Given the description of an element on the screen output the (x, y) to click on. 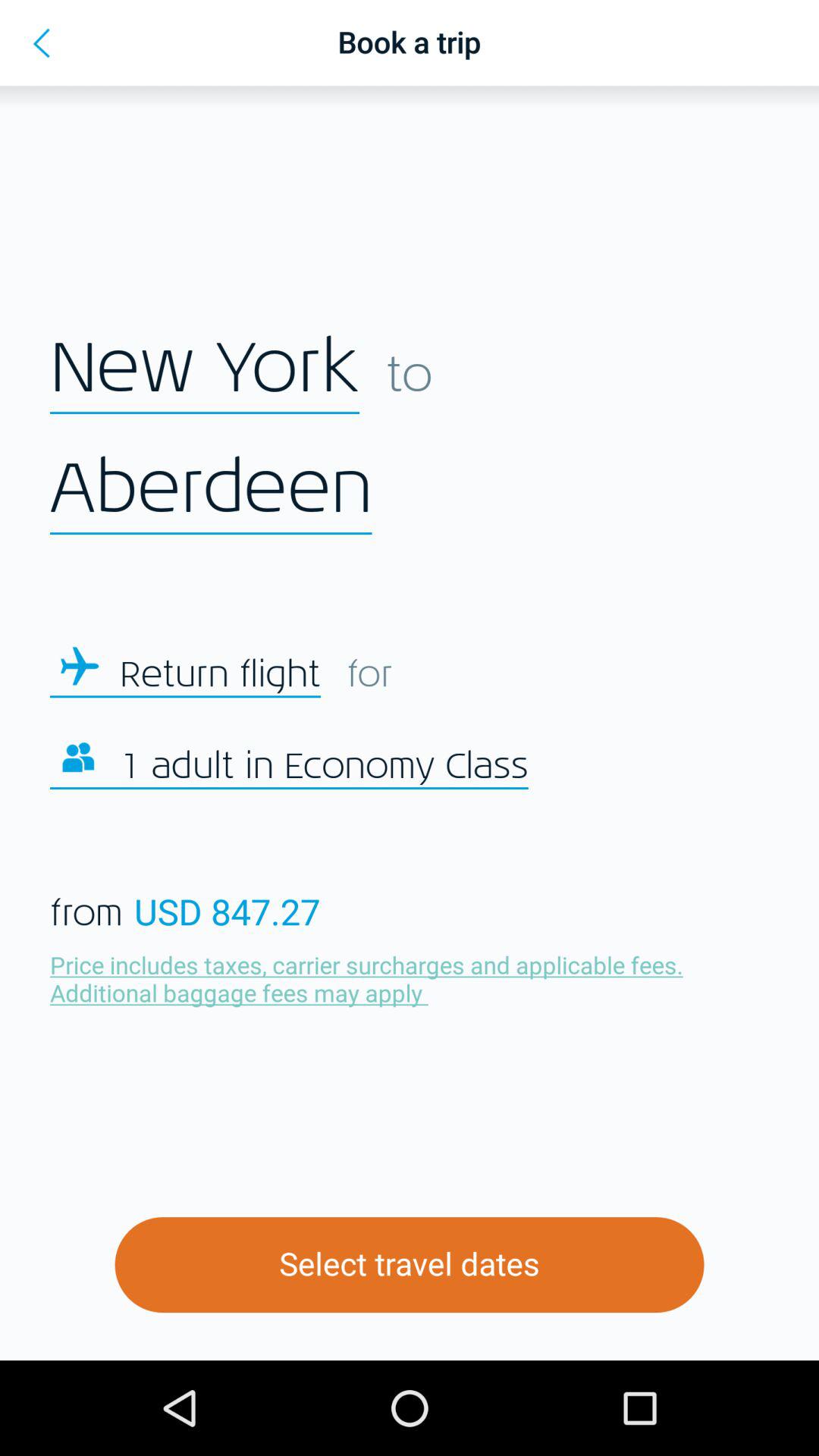
launch icon above select travel dates (370, 978)
